Given the description of an element on the screen output the (x, y) to click on. 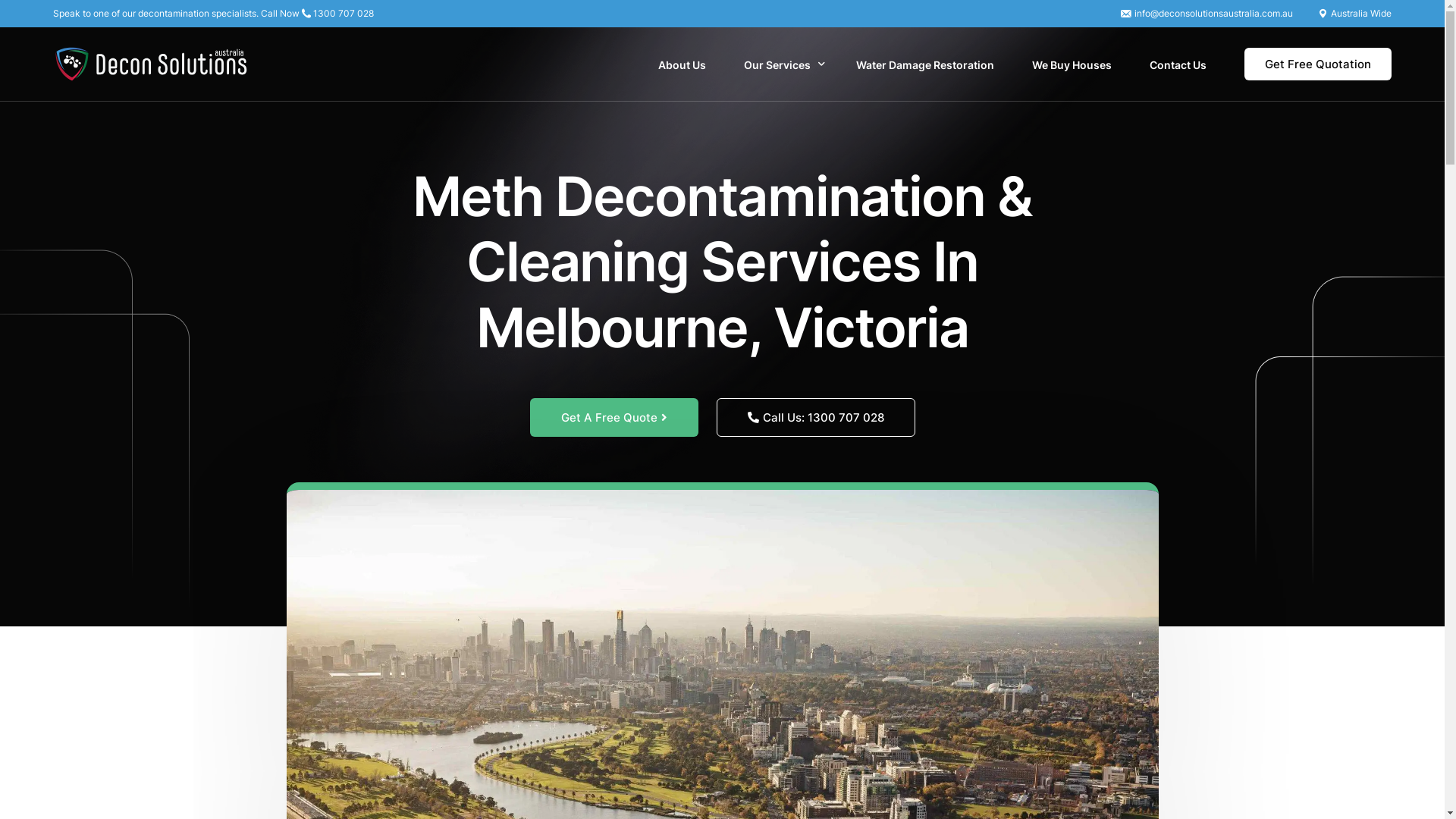
Call Us: 1300 707 028 Element type: text (814, 417)
Get A Free Quote Element type: text (613, 417)
We Buy Houses Element type: text (1071, 63)
info@deconsolutionsaustralia.com.au Element type: text (1213, 13)
Water Damage Restoration Element type: text (925, 63)
Contact Us Element type: text (1177, 63)
Our Services Element type: text (780, 63)
About Us Element type: text (681, 63)
Get Free Quotation Element type: text (1317, 63)
1300 707 028 Element type: text (343, 13)
